Given the description of an element on the screen output the (x, y) to click on. 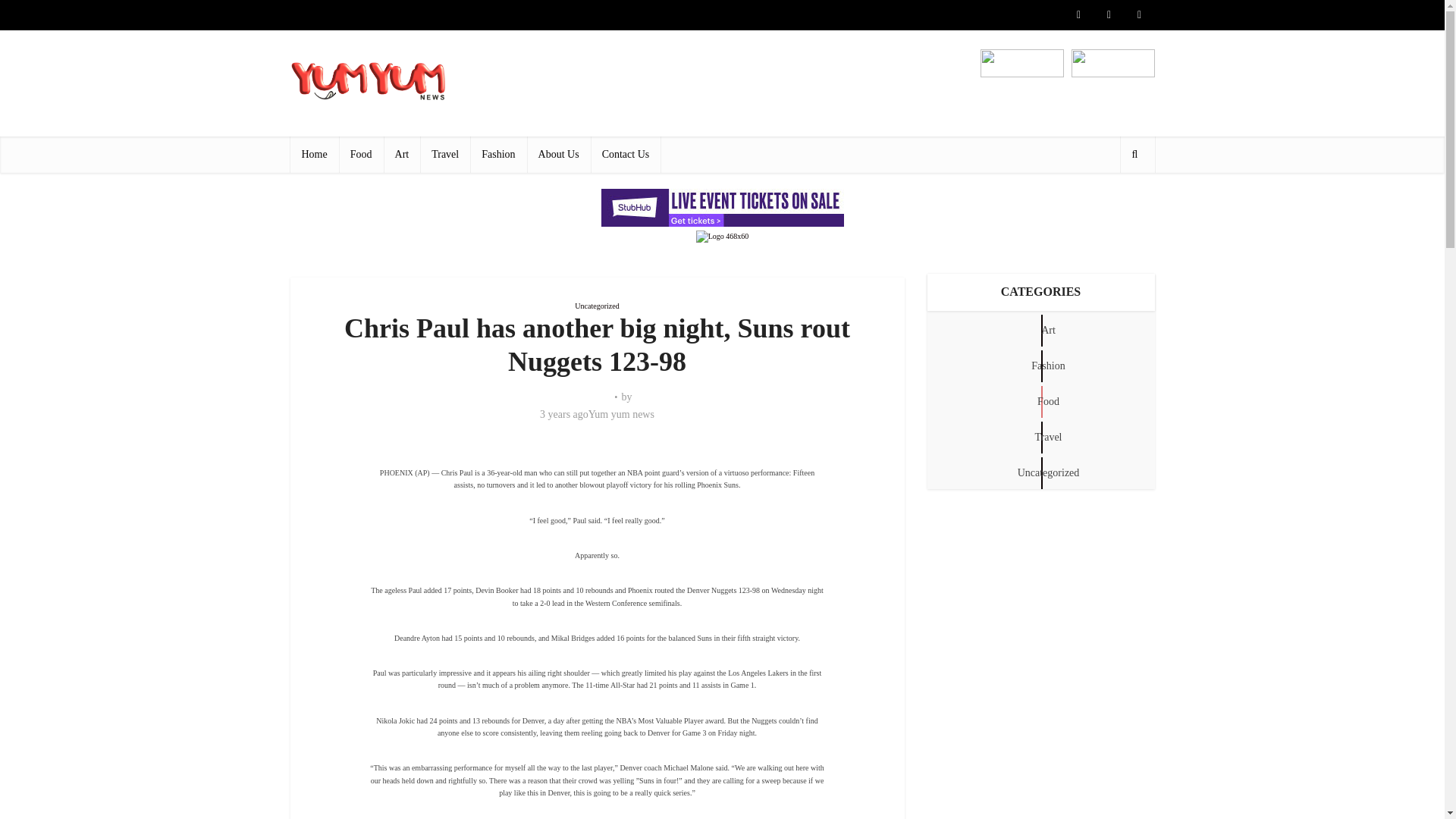
Yum yum news (620, 414)
About Us (559, 154)
Travel (445, 154)
Contact Us (626, 154)
Logo 468x60 (722, 236)
Uncategorized (596, 306)
Fashion (497, 154)
Food (361, 154)
Art (402, 154)
Home (313, 154)
